Given the description of an element on the screen output the (x, y) to click on. 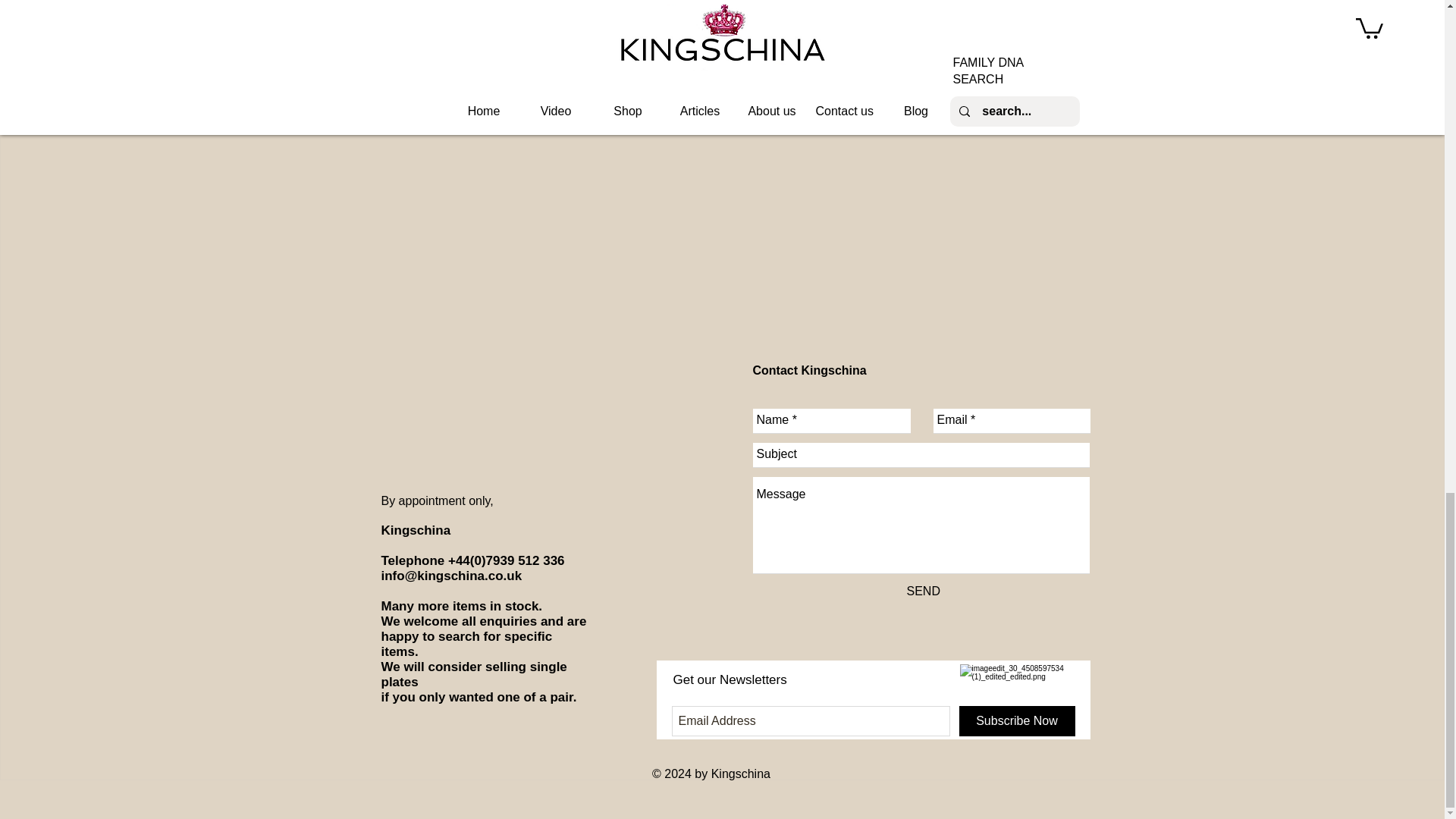
SEND (923, 591)
Subscribe Now (1016, 720)
